Given the description of an element on the screen output the (x, y) to click on. 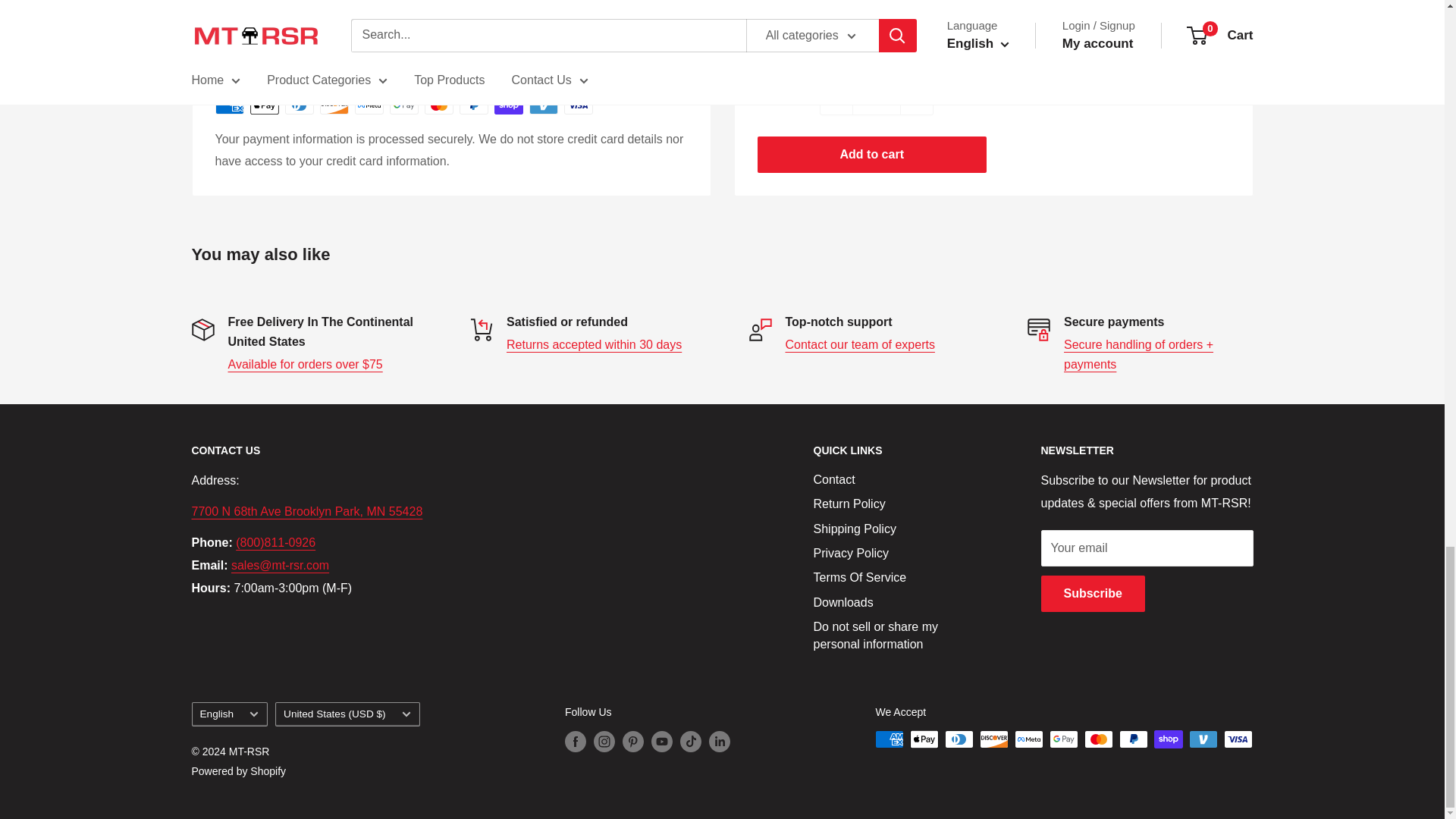
Shipping Policy (304, 364)
Return Policy (593, 344)
Contact (860, 344)
Privacy Policy (1138, 354)
7700 N 68th Ave Brooklyn Park, MN 55428 (306, 511)
